Given the description of an element on the screen output the (x, y) to click on. 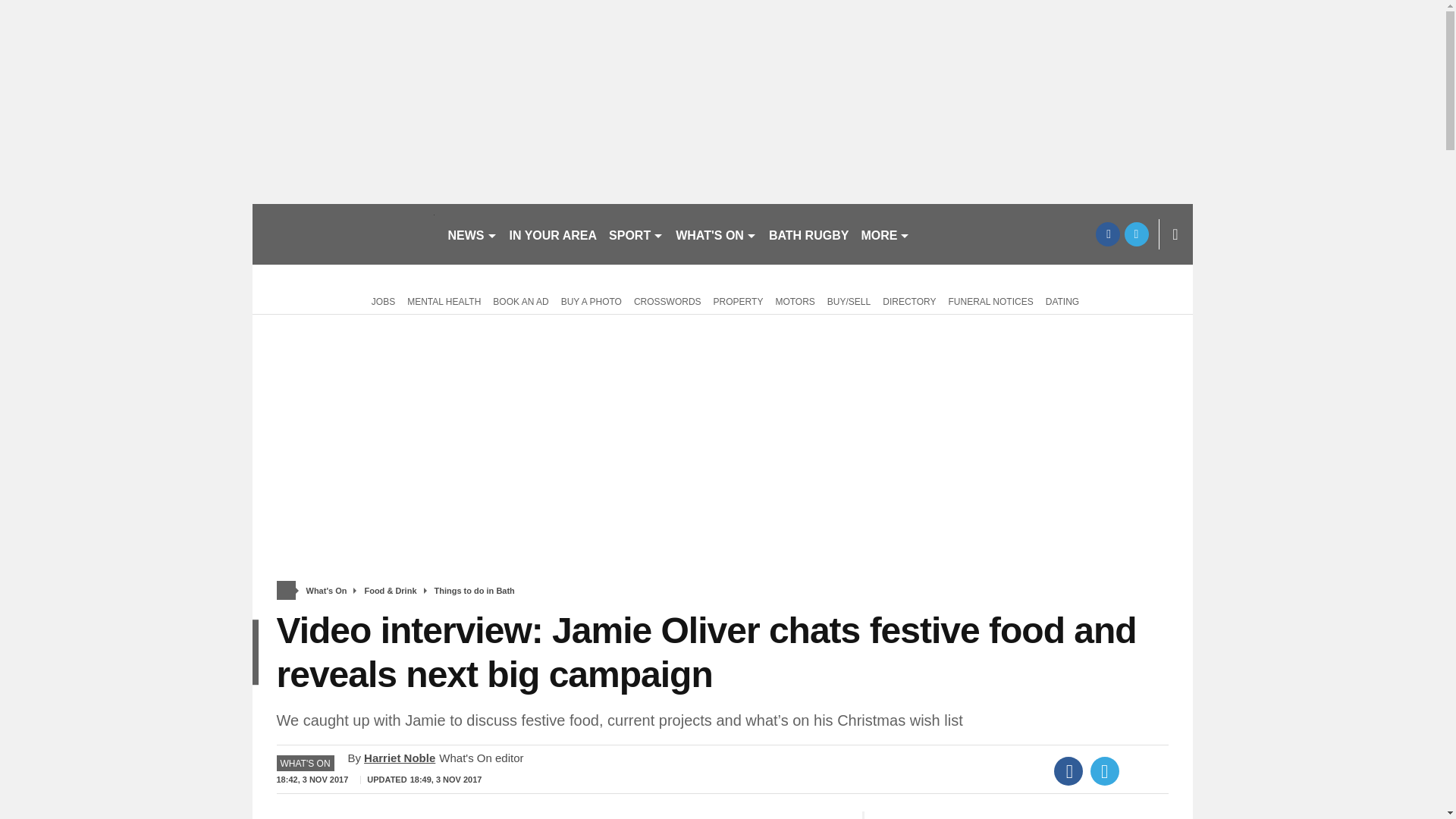
bathchronicle (342, 233)
twitter (1136, 233)
IN YOUR AREA (553, 233)
BUY A PHOTO (590, 300)
CROSSWORDS (667, 300)
Twitter (1104, 770)
NEWS (471, 233)
BATH RUGBY (808, 233)
facebook (1106, 233)
MENTAL HEALTH (443, 300)
SPORT (635, 233)
WHAT'S ON (715, 233)
PROPERTY (738, 300)
Facebook (1068, 770)
JOBS (380, 300)
